Given the description of an element on the screen output the (x, y) to click on. 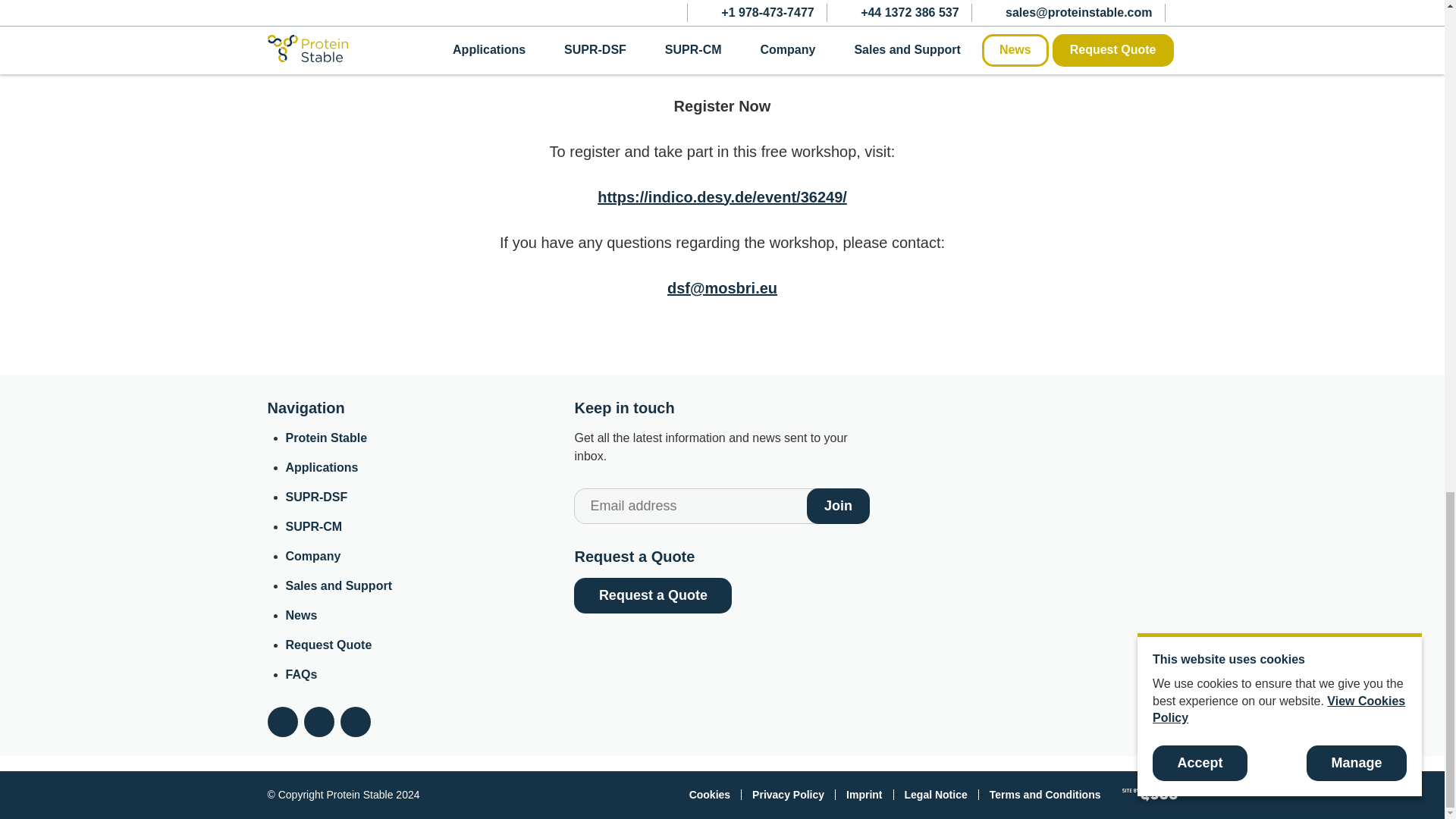
SUPR-CM (313, 526)
Join (838, 506)
Request a Quote (652, 595)
SUPR-DSF (316, 496)
News (301, 615)
LinkedIn (354, 721)
FAQs (301, 674)
Imprint (864, 794)
Privacy Policy (788, 794)
Twitter (281, 721)
